Given the description of an element on the screen output the (x, y) to click on. 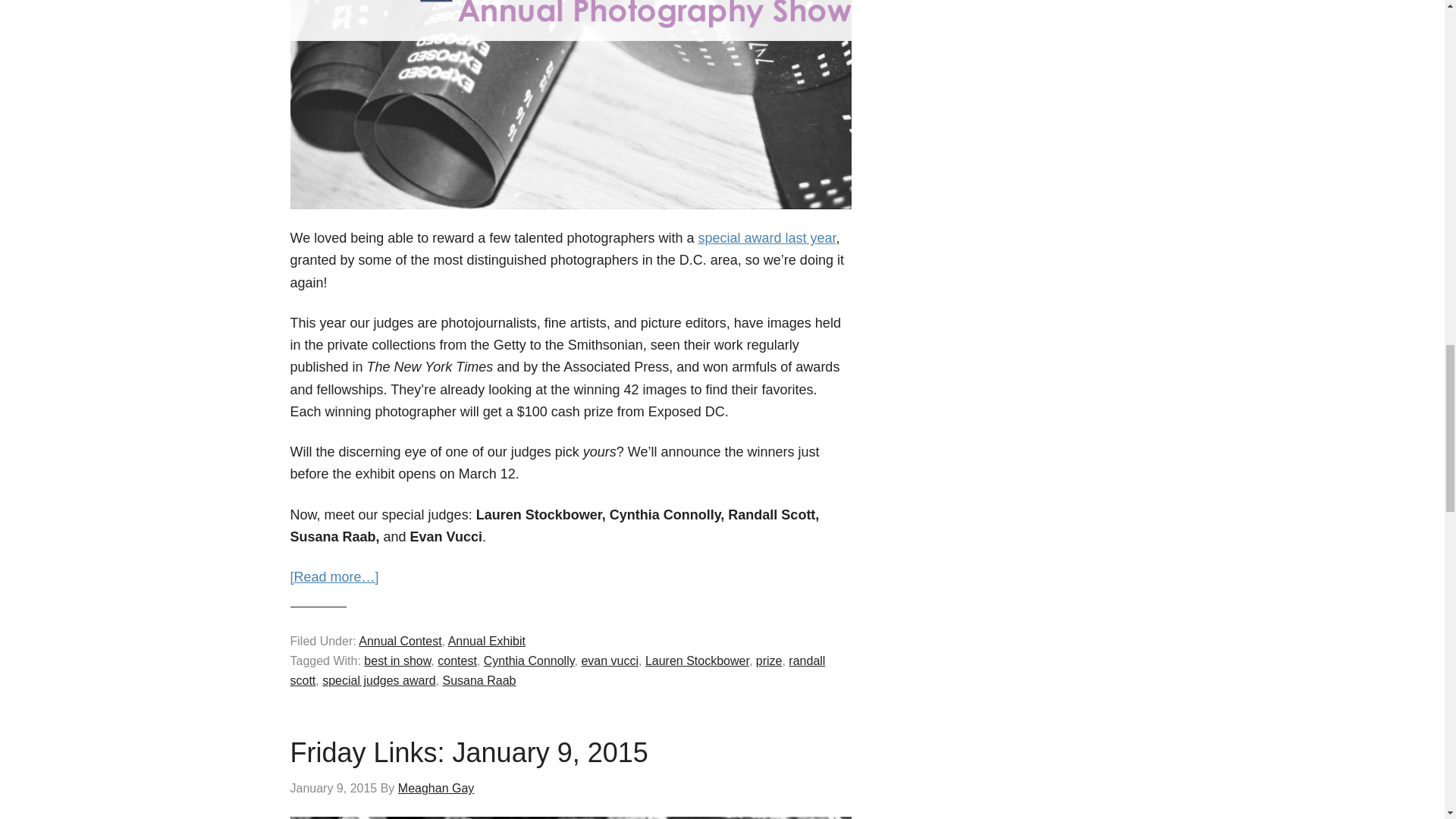
contest (457, 660)
Annual Exhibit (486, 640)
best in show (397, 660)
evan vucci (609, 660)
special award last year (766, 237)
Cynthia Connolly (529, 660)
Annual Contest (399, 640)
